Given the description of an element on the screen output the (x, y) to click on. 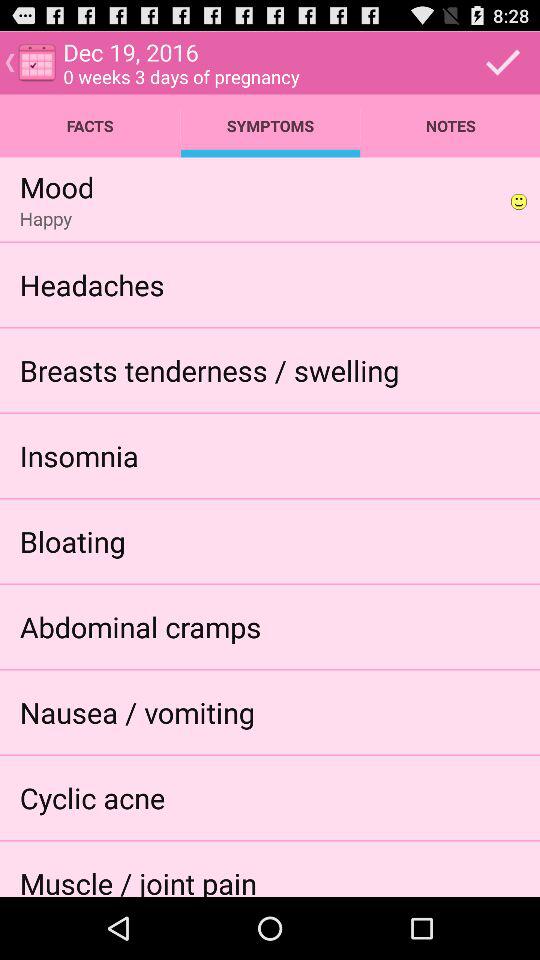
turn off muscle / joint pain item (137, 879)
